Given the description of an element on the screen output the (x, y) to click on. 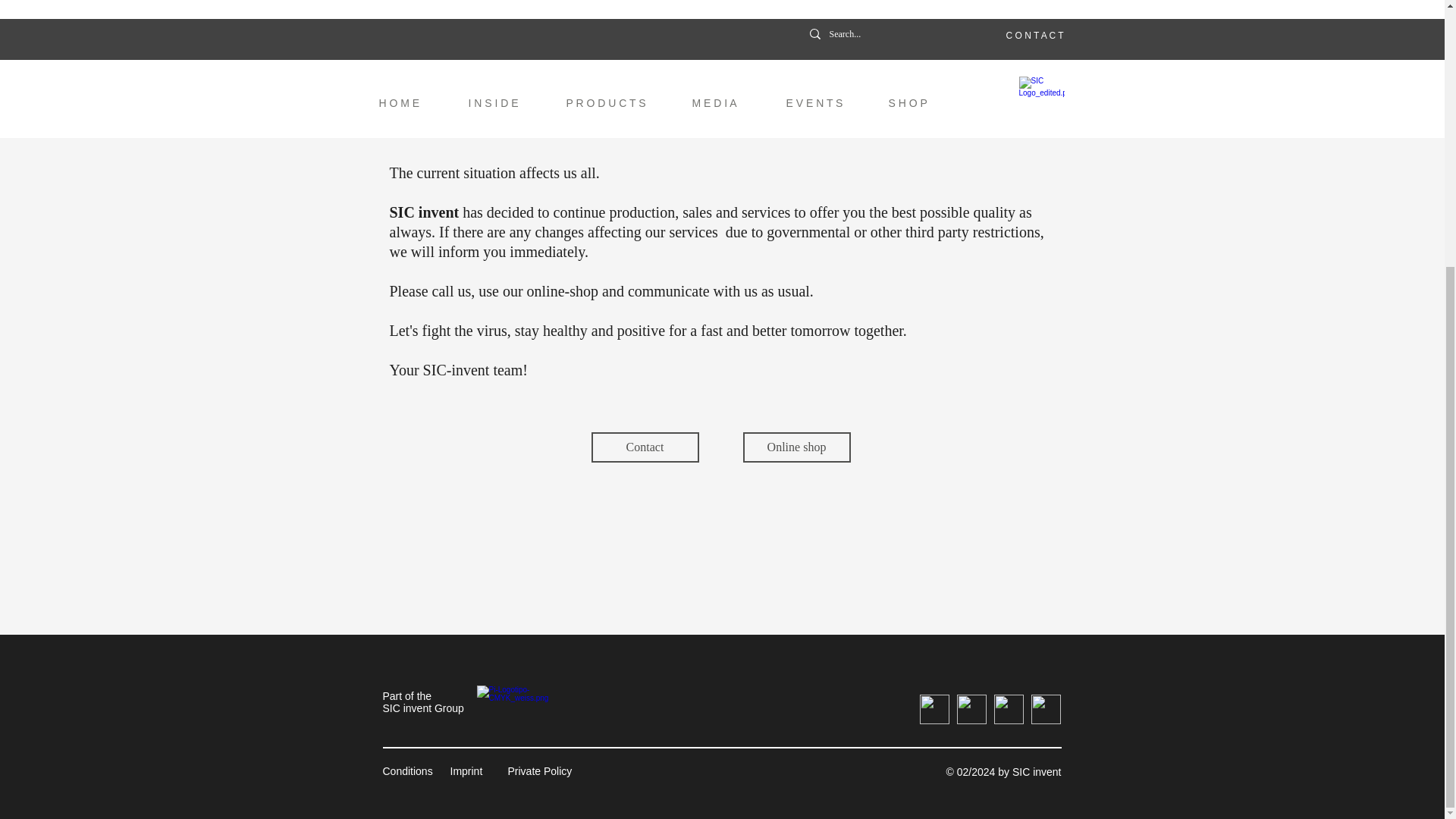
Online shop (796, 447)
Contact (644, 447)
